Given the description of an element on the screen output the (x, y) to click on. 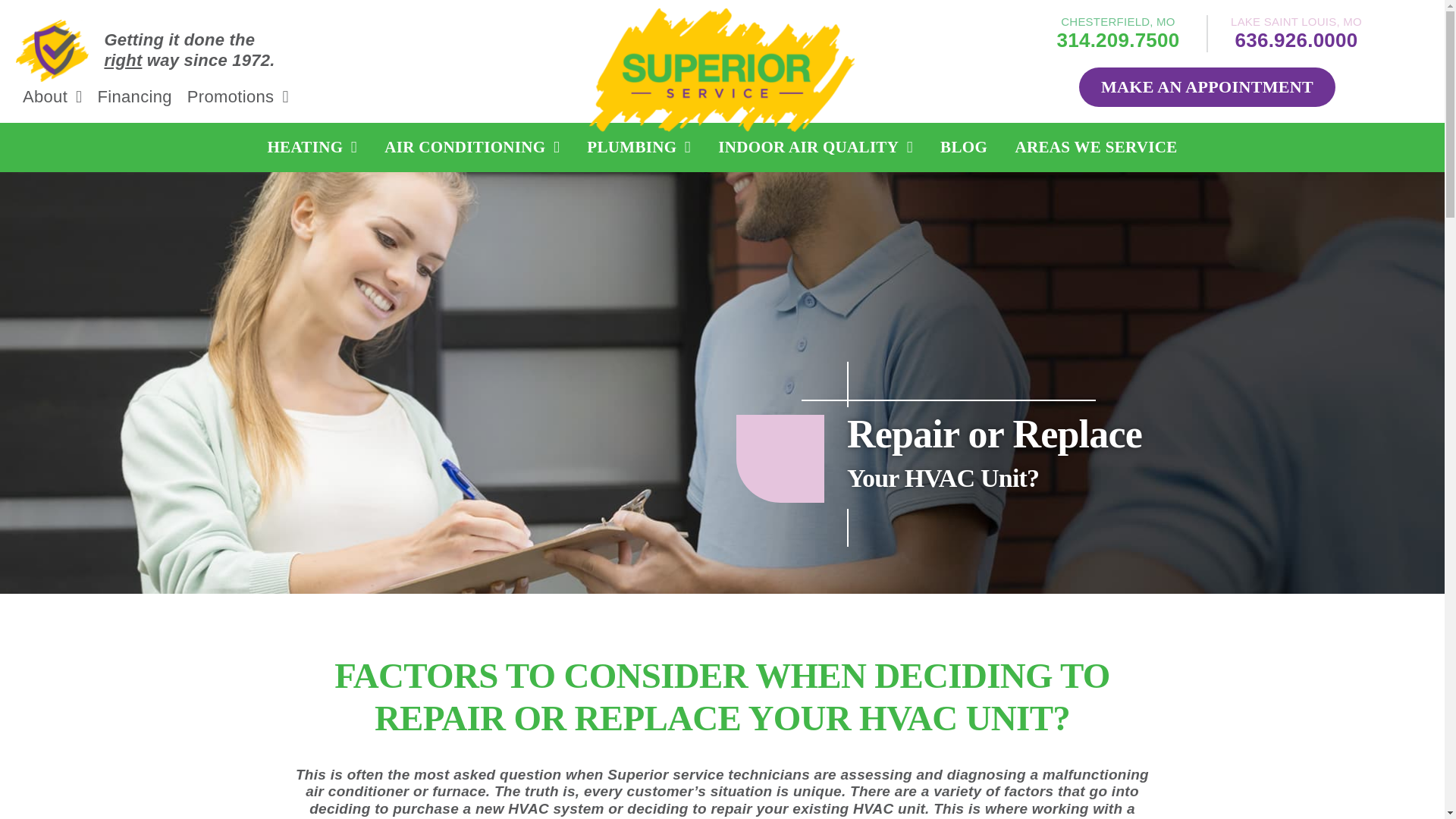
MAKE AN APPOINTMENT (1206, 87)
Shield Icon (52, 50)
About (52, 96)
314.209.7500 (1118, 39)
Financing (134, 96)
Promotions (237, 96)
636.926.0000 (1296, 39)
